Given the description of an element on the screen output the (x, y) to click on. 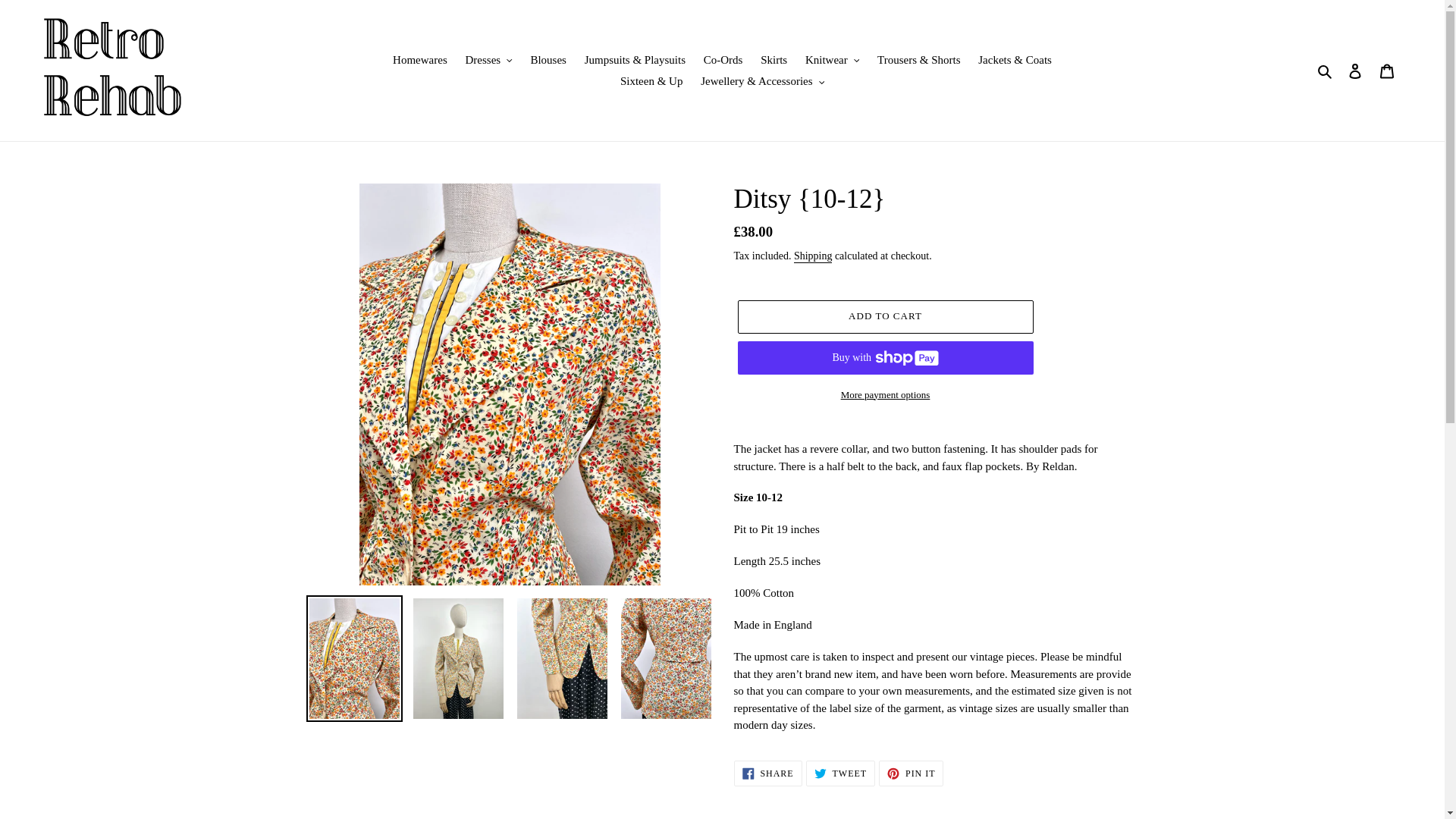
Co-Ords (723, 59)
Skirts (773, 59)
Blouses (547, 59)
Search (1326, 70)
Dresses (488, 59)
Cart (1387, 70)
Homewares (419, 59)
Knitwear (831, 59)
Log in (1355, 70)
